Given the description of an element on the screen output the (x, y) to click on. 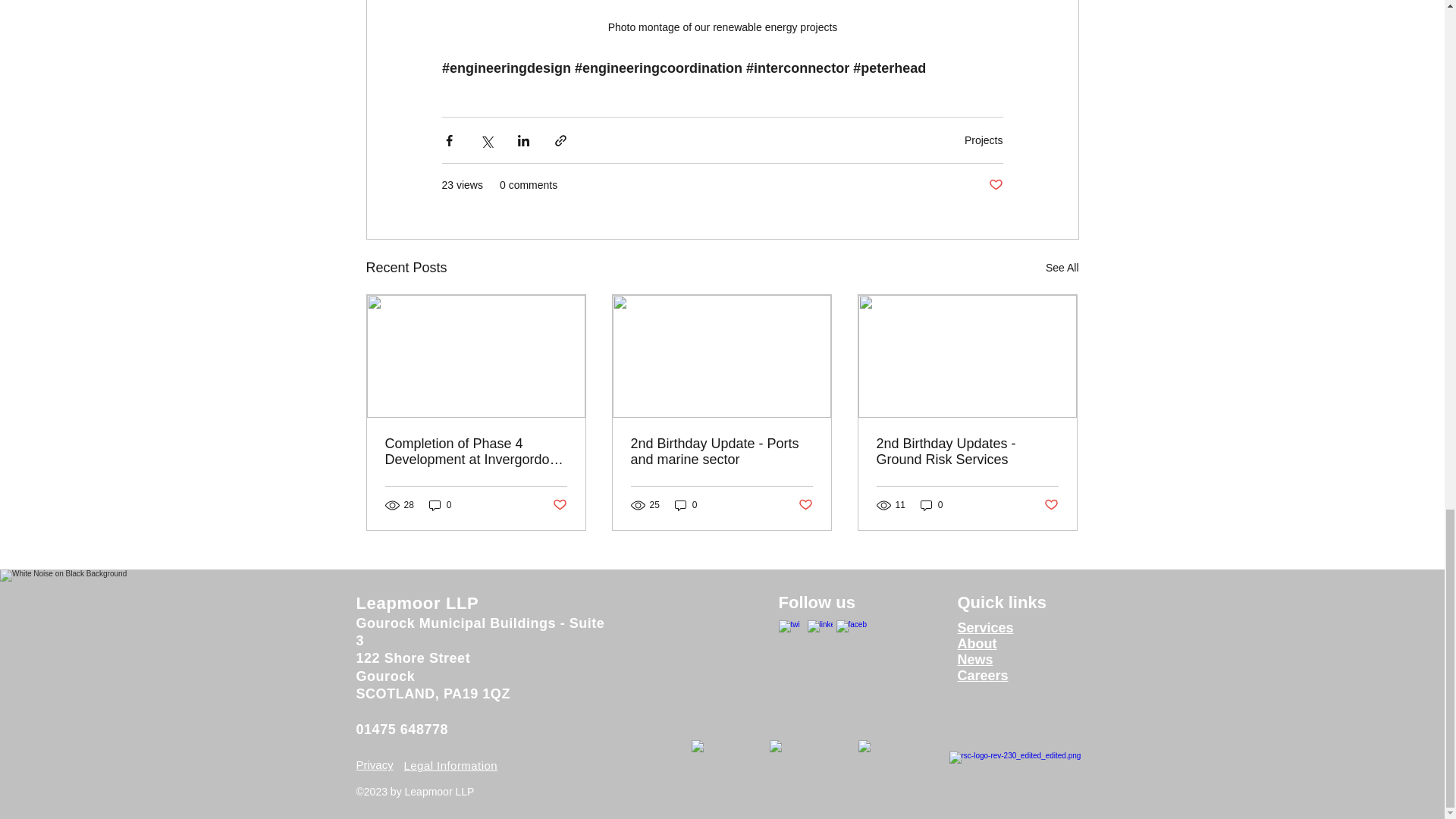
NEC-Users'-Group-Badge-Bronze.png (805, 770)
Post not marked as liked (558, 504)
ice-master-logo-og.jpg (722, 770)
SiLC- logo green packgound.jpg (895, 770)
Projects (983, 140)
See All (1061, 268)
Post not marked as liked (995, 185)
0 (440, 504)
